Given the description of an element on the screen output the (x, y) to click on. 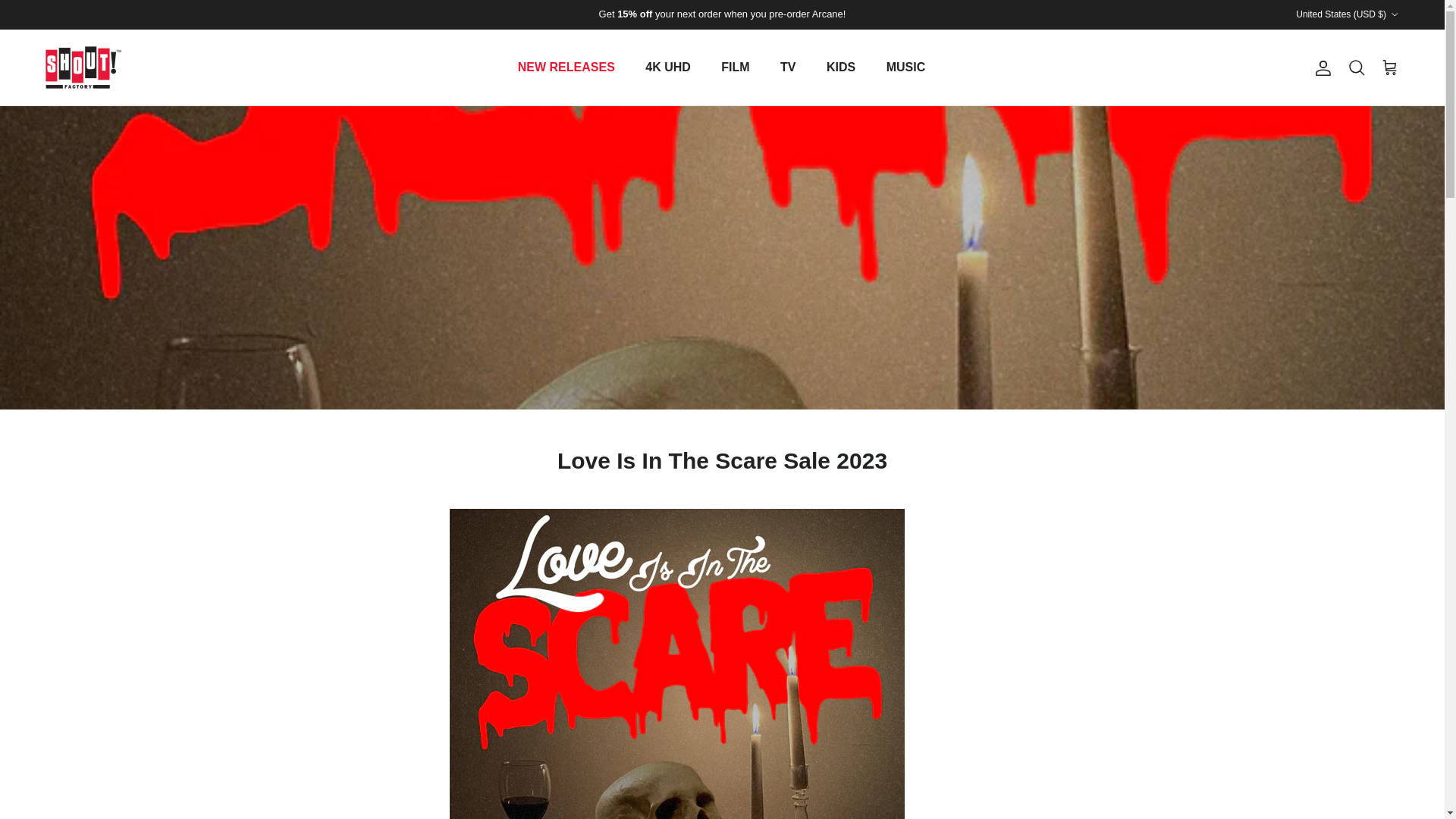
KIDS (840, 67)
Arcane League Of Legends (721, 13)
Account (1319, 66)
NEW RELEASES (565, 67)
4K UHD (667, 67)
Shout! Factory (82, 67)
FILM (734, 67)
MUSIC (905, 67)
